Given the description of an element on the screen output the (x, y) to click on. 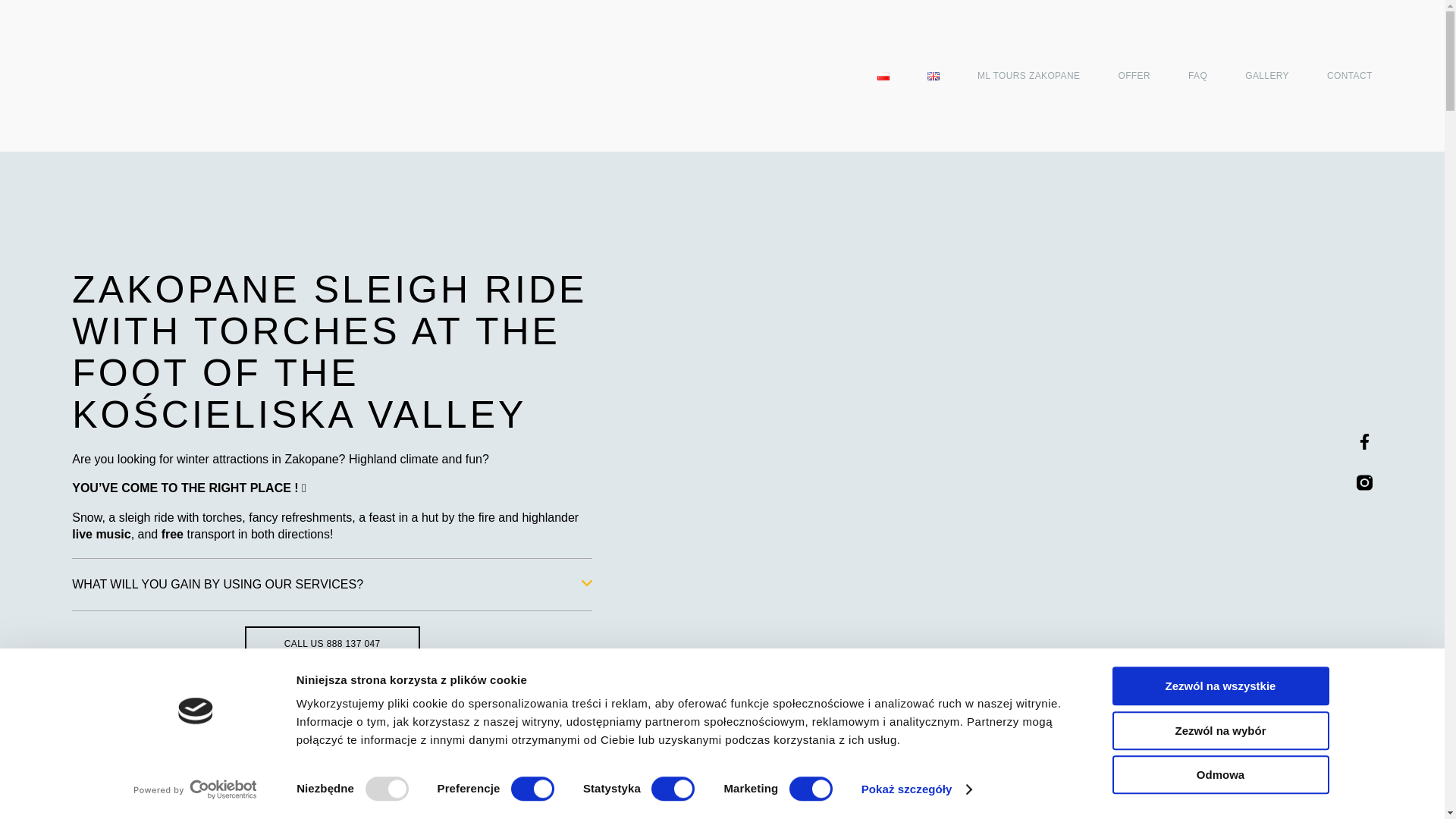
Odmowa (1219, 774)
